Given the description of an element on the screen output the (x, y) to click on. 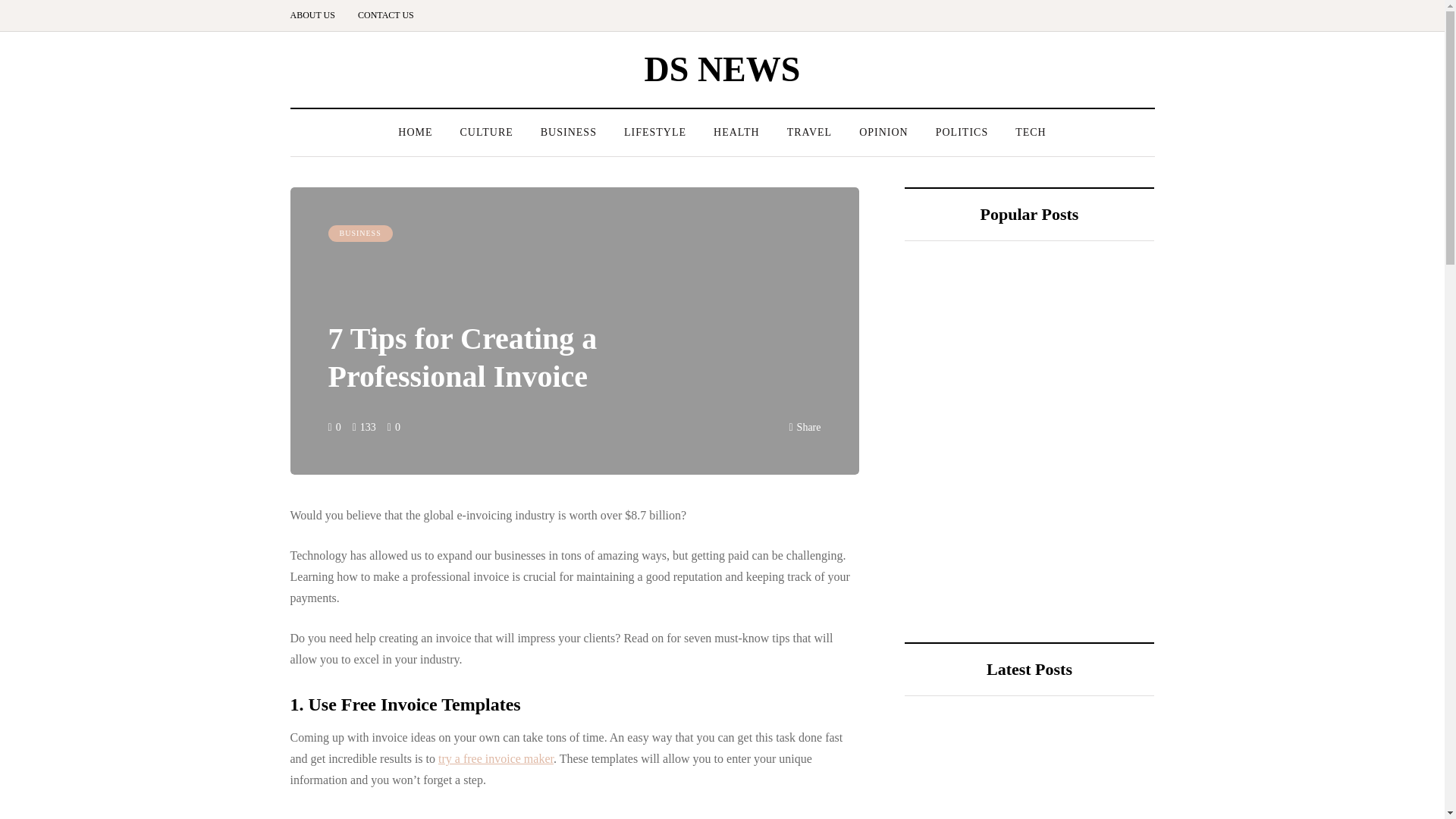
TECH (1030, 132)
HEALTH (736, 132)
try a free invoice maker (495, 758)
TRAVEL (809, 132)
DS NEWS (722, 68)
OPINION (883, 132)
LIFESTYLE (655, 132)
BUSINESS (359, 233)
CONTACT US (385, 15)
BUSINESS (568, 132)
CULTURE (485, 132)
ABOUT US (317, 15)
HOME (414, 132)
POLITICS (961, 132)
